Given the description of an element on the screen output the (x, y) to click on. 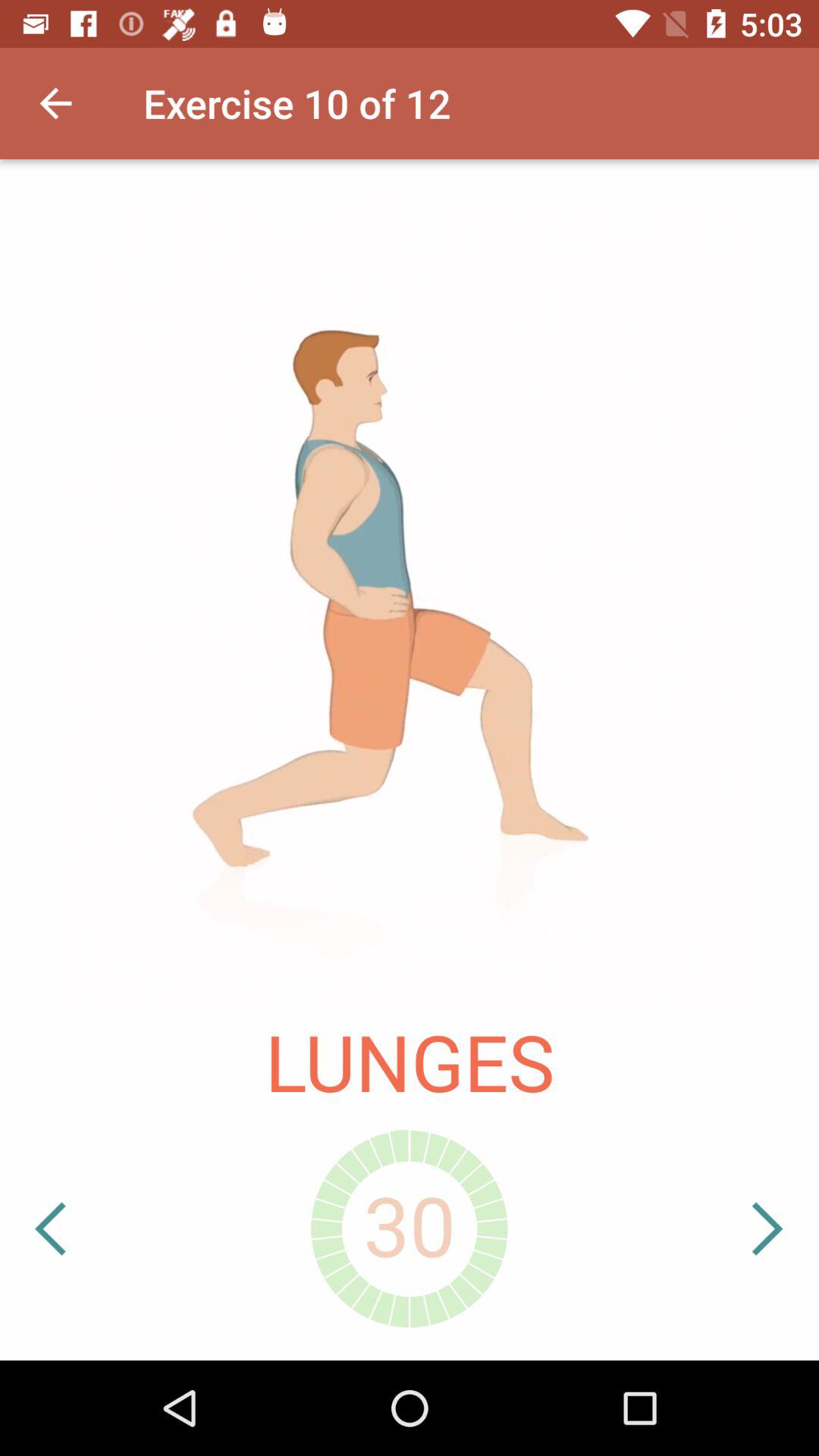
press the item to the left of exercise 10 of (55, 103)
